Given the description of an element on the screen output the (x, y) to click on. 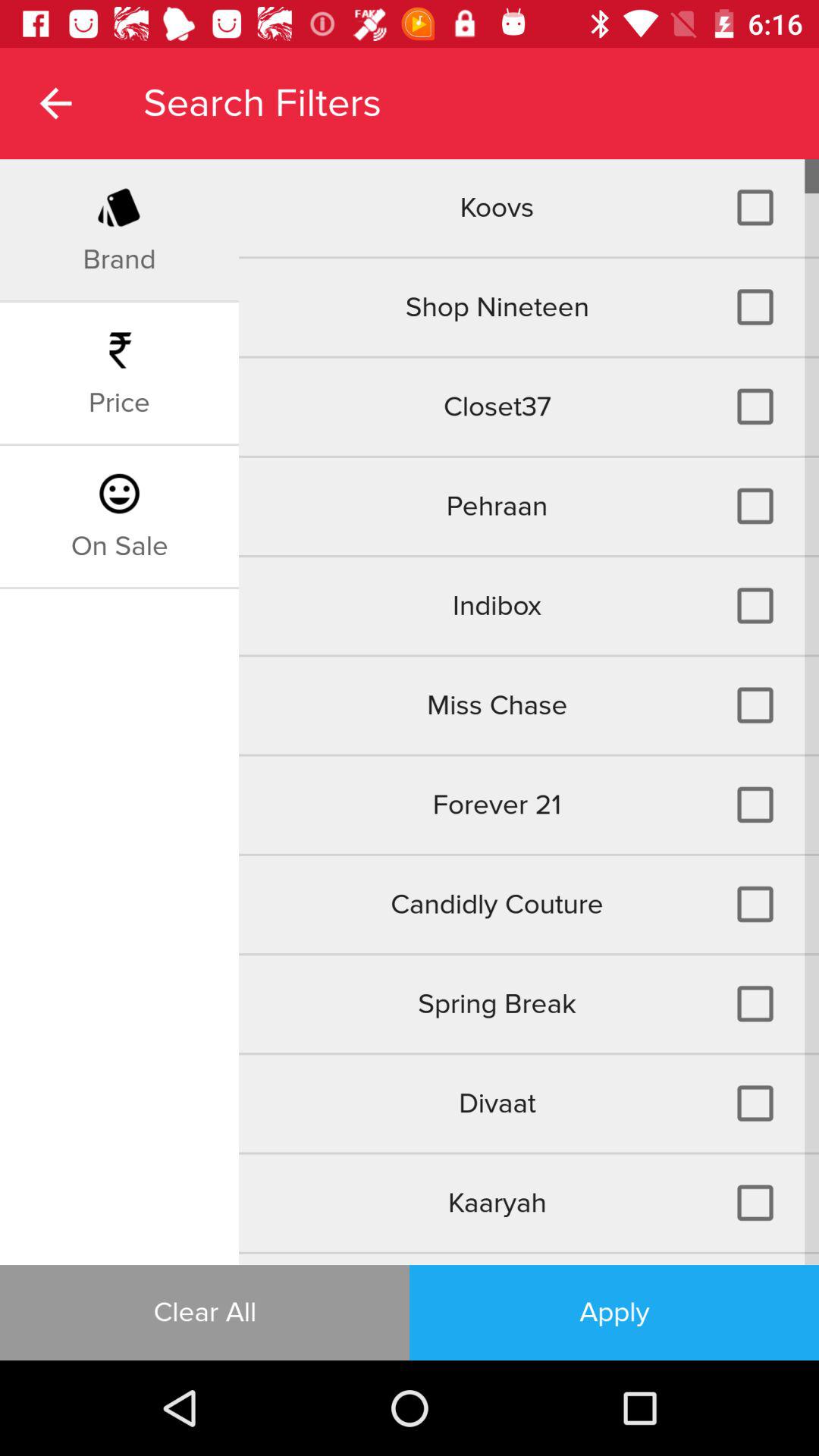
flip until divaat icon (528, 1103)
